Given the description of an element on the screen output the (x, y) to click on. 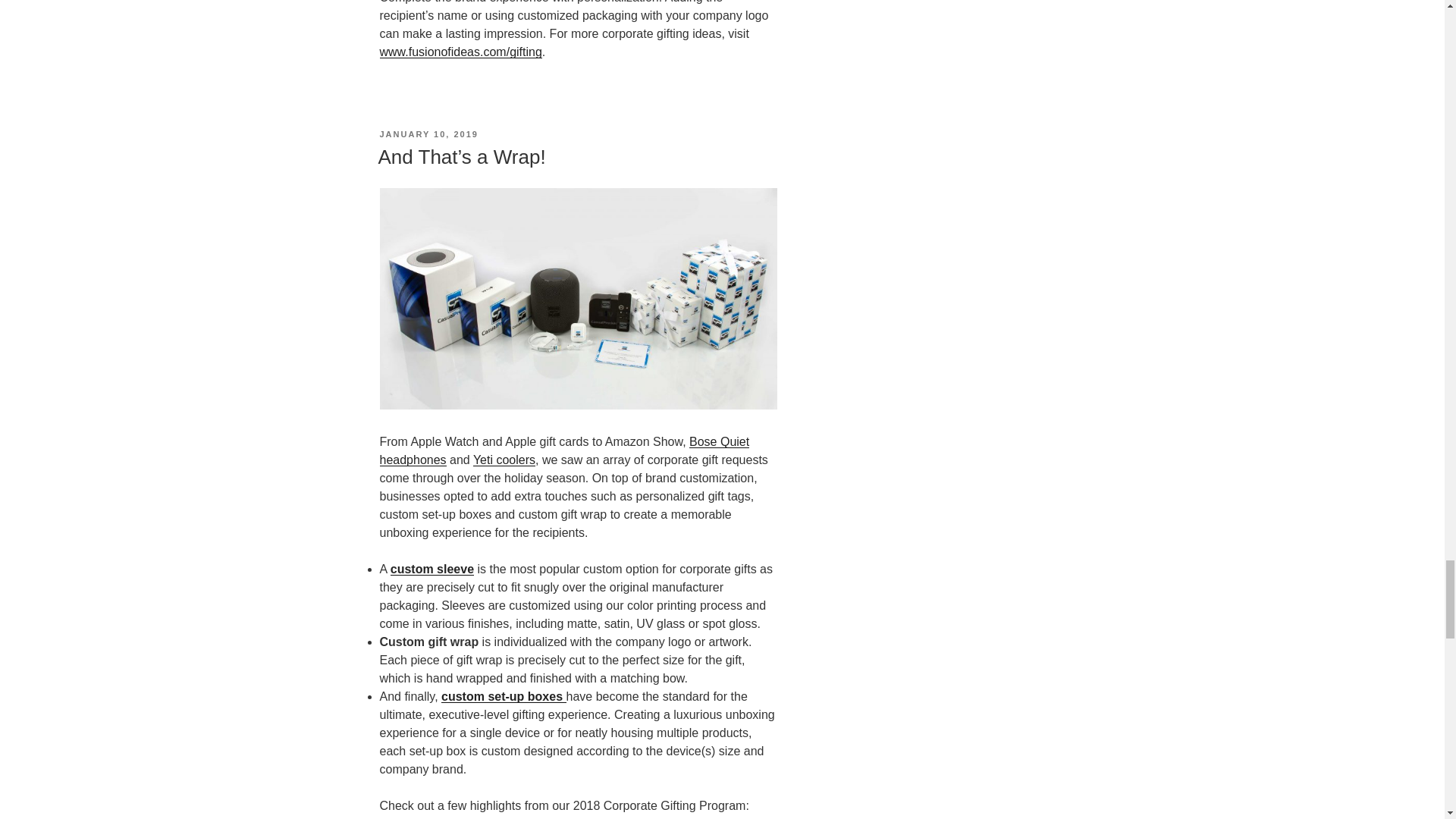
custom sleeve (432, 568)
custom set-up boxes (503, 696)
JANUARY 10, 2019 (427, 133)
Yeti coolers (504, 459)
Bose Quiet headphones (563, 450)
